Given the description of an element on the screen output the (x, y) to click on. 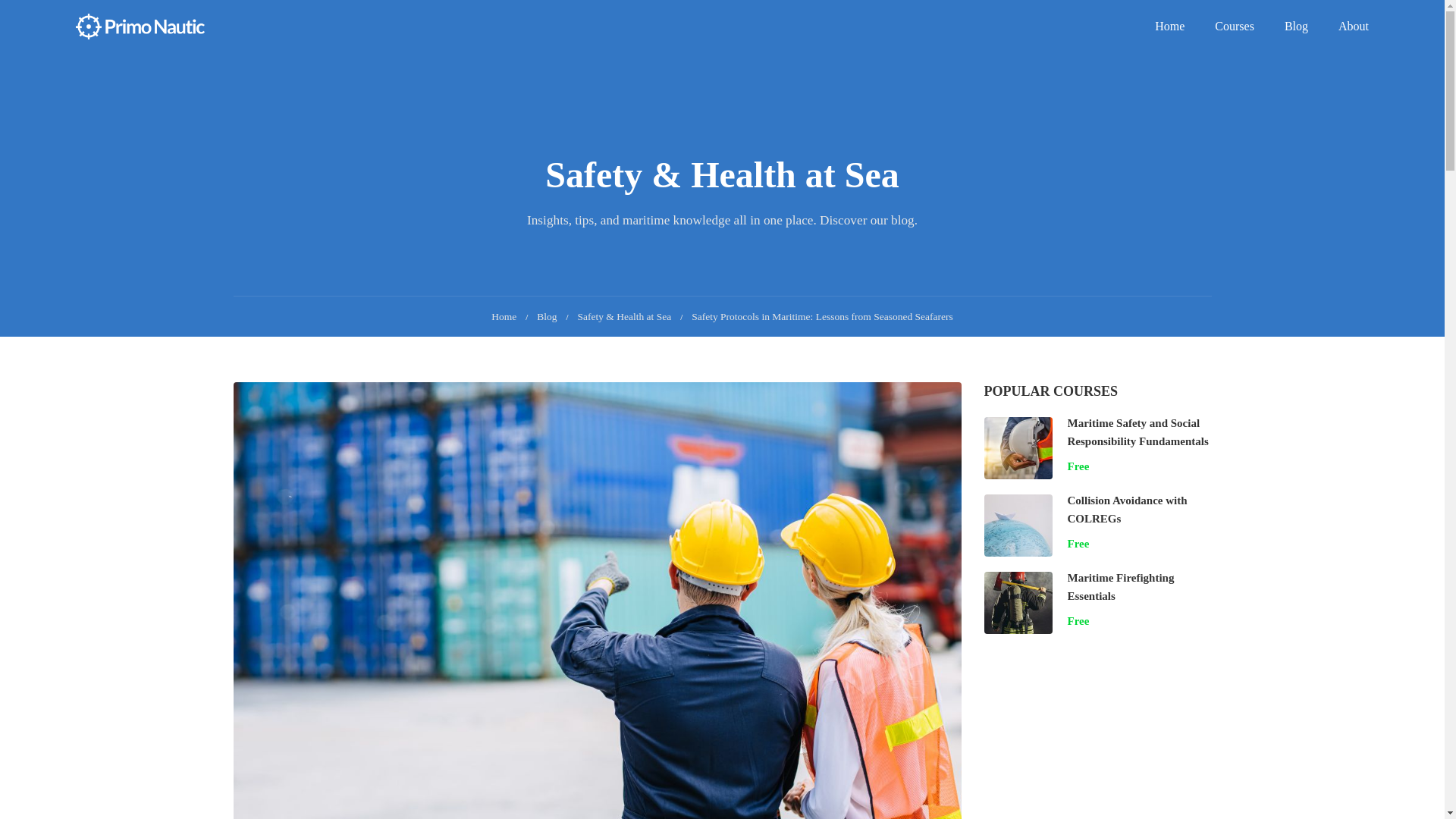
Courses (1234, 26)
Blog (1296, 26)
Collision Avoidance with COLREGs (1127, 509)
Home (1169, 26)
Home (509, 316)
About (1345, 26)
Maritime Safety and Social Responsibility Fundamentals (1137, 431)
Primo Nautic -  (140, 26)
Maritime Firefighting Essentials (1120, 586)
Blog (552, 316)
